Given the description of an element on the screen output the (x, y) to click on. 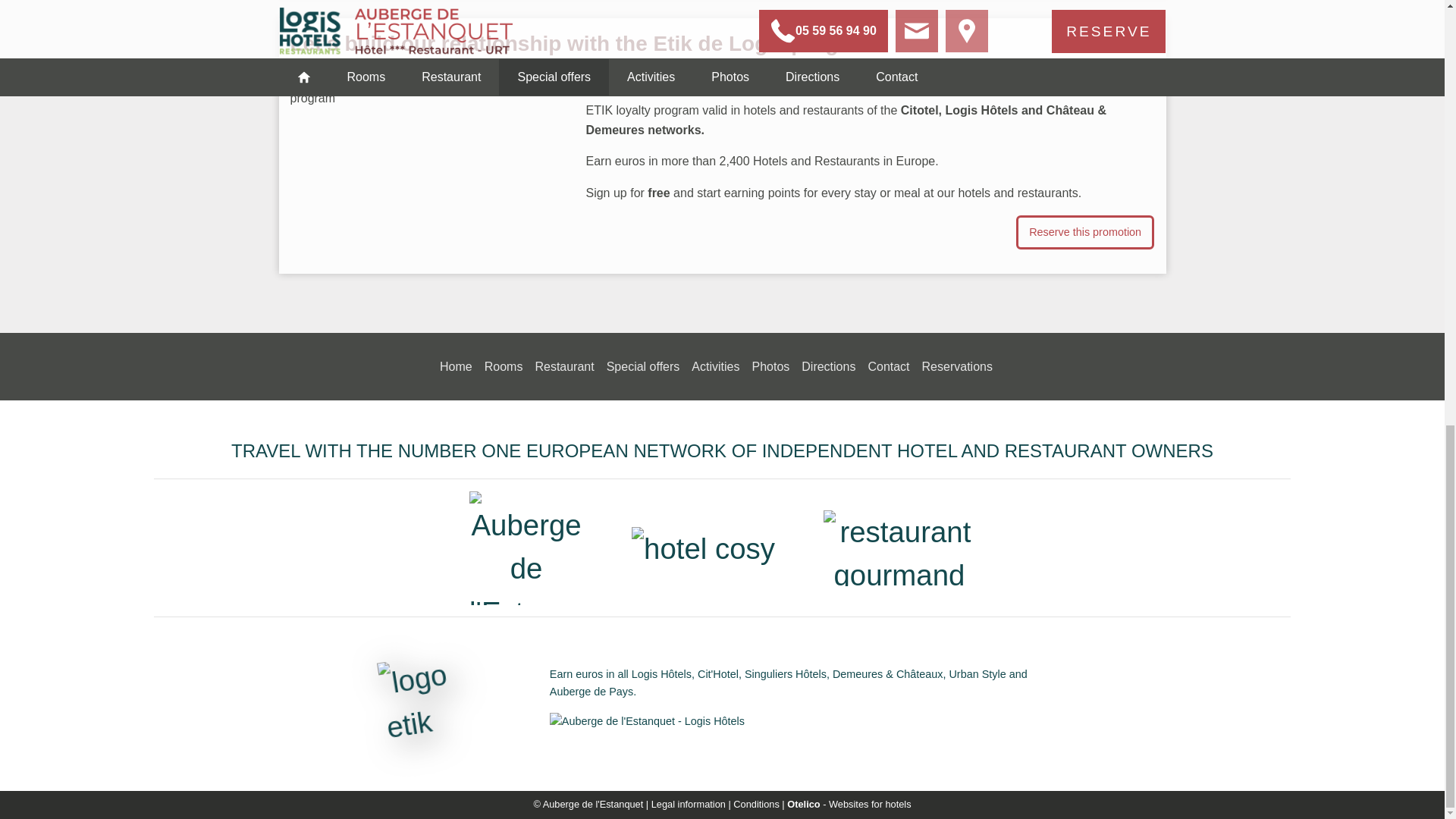
Restaurant (564, 366)
Activities (715, 366)
Restaurant (564, 366)
Special offers (643, 366)
Rooms (503, 366)
Reservations (956, 366)
Rooms (503, 366)
Home (455, 366)
Contact (887, 366)
Photos (770, 366)
Reserve this promotion (1085, 232)
Directions (829, 366)
